Given the description of an element on the screen output the (x, y) to click on. 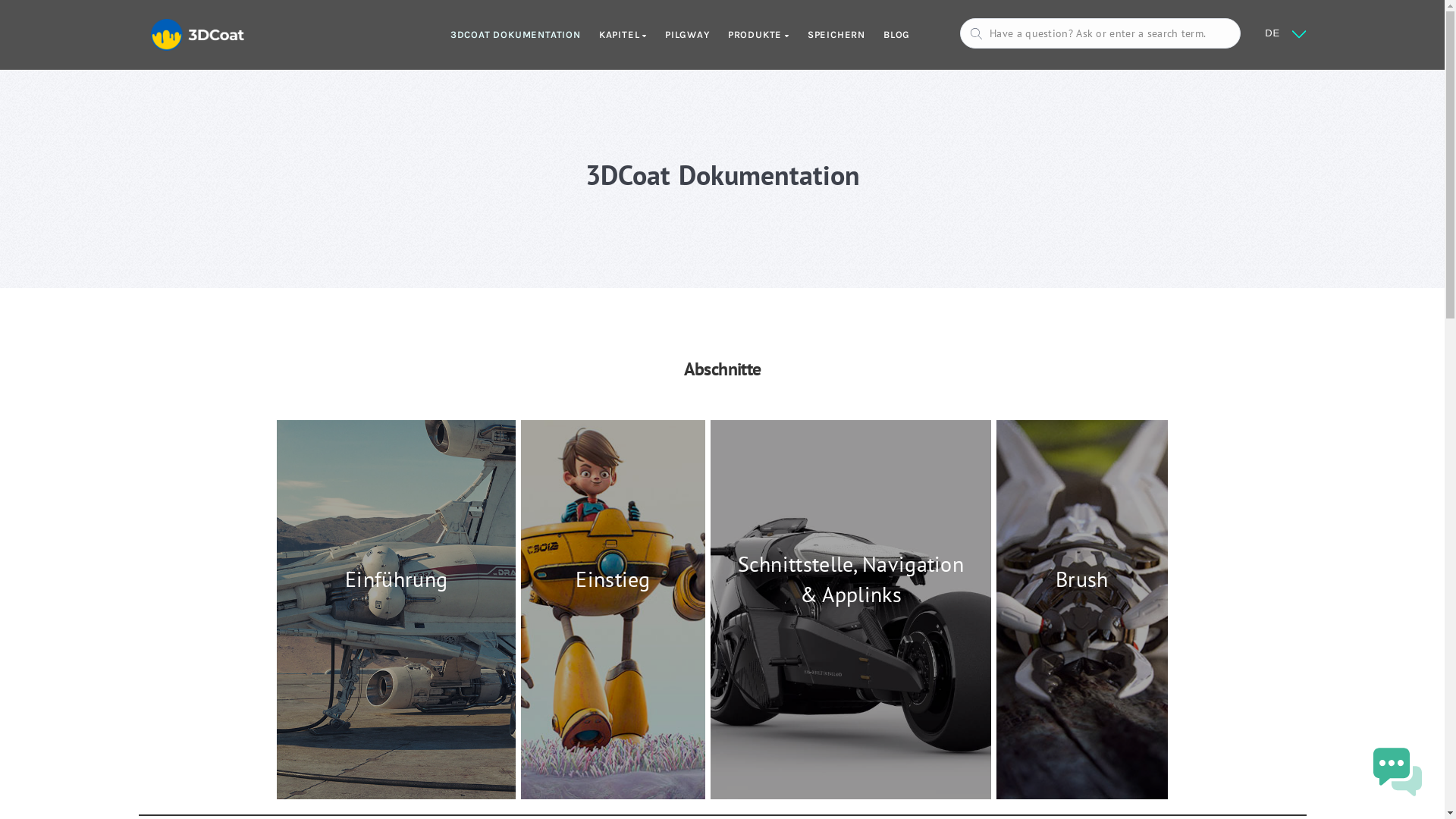
Schnittstelle, Navigation & Applinks Element type: text (850, 609)
BLOG Element type: text (887, 34)
SPEICHERN Element type: text (827, 34)
Search Element type: text (41, 18)
3DCOAT DOKUMENTATION Element type: text (506, 34)
PRODUKTE Element type: text (749, 34)
Brush Element type: text (1081, 609)
Search Element type: text (1124, 393)
KAPITEL Element type: text (613, 34)
DE Element type: text (1272, 32)
PILGWAY Element type: text (677, 34)
Einstieg Element type: text (612, 609)
